Given the description of an element on the screen output the (x, y) to click on. 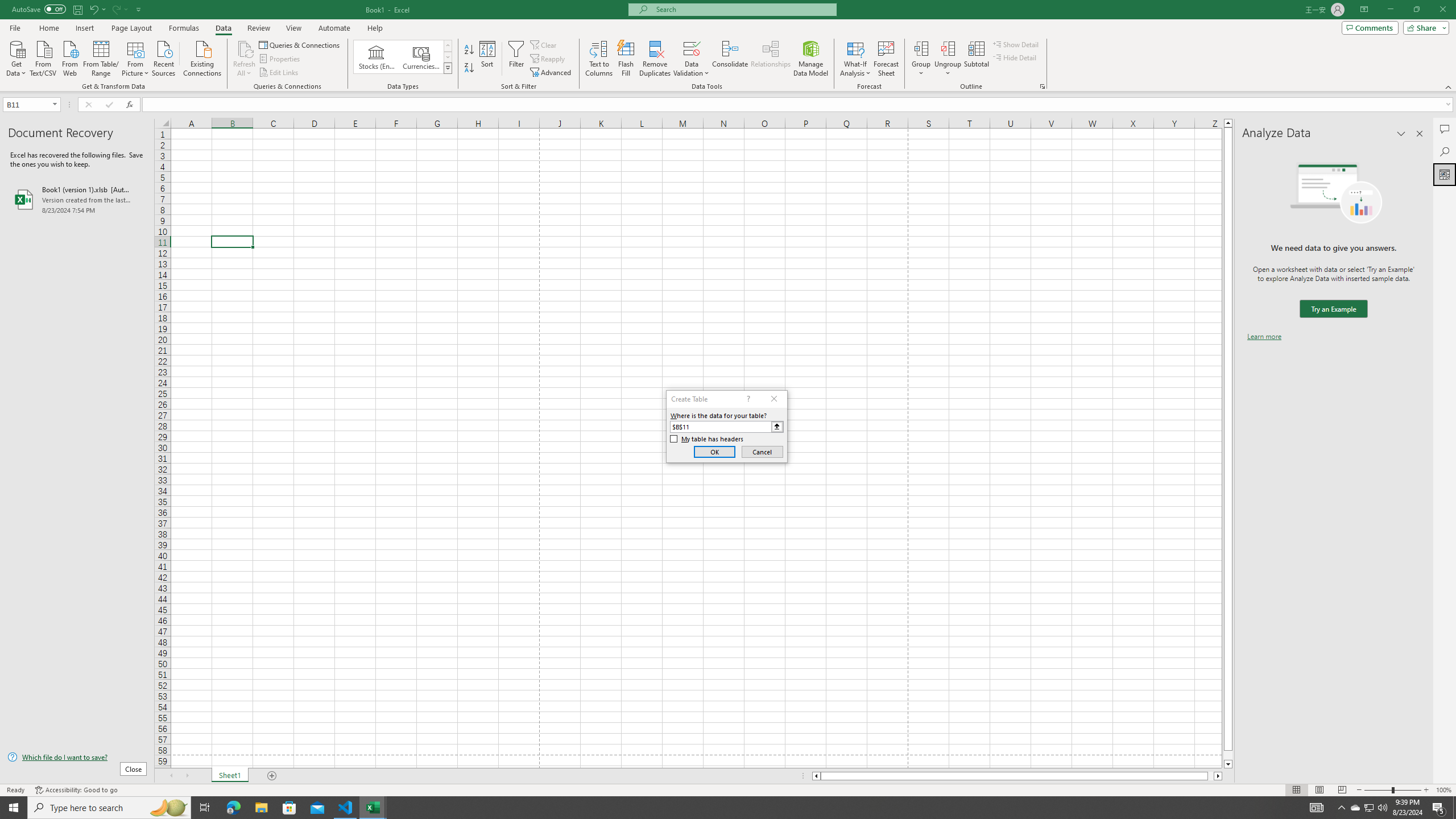
What-If Analysis (855, 58)
From Table/Range (100, 57)
Subtotal (976, 58)
Currencies (English) (420, 56)
Advanced... (551, 72)
Get Data (16, 57)
